Given the description of an element on the screen output the (x, y) to click on. 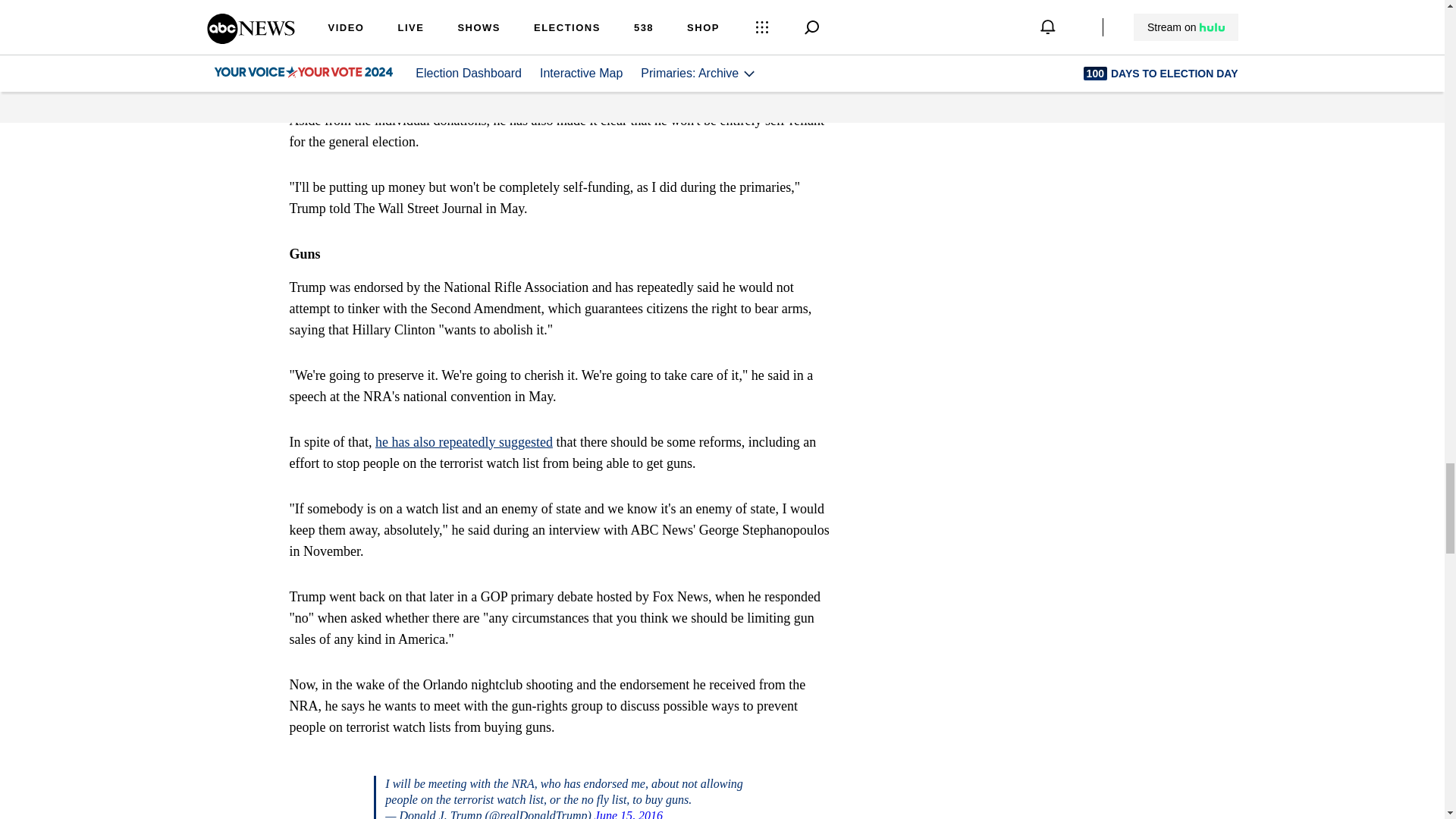
he has also repeatedly suggested (464, 441)
June 15, 2016 (628, 813)
